Given the description of an element on the screen output the (x, y) to click on. 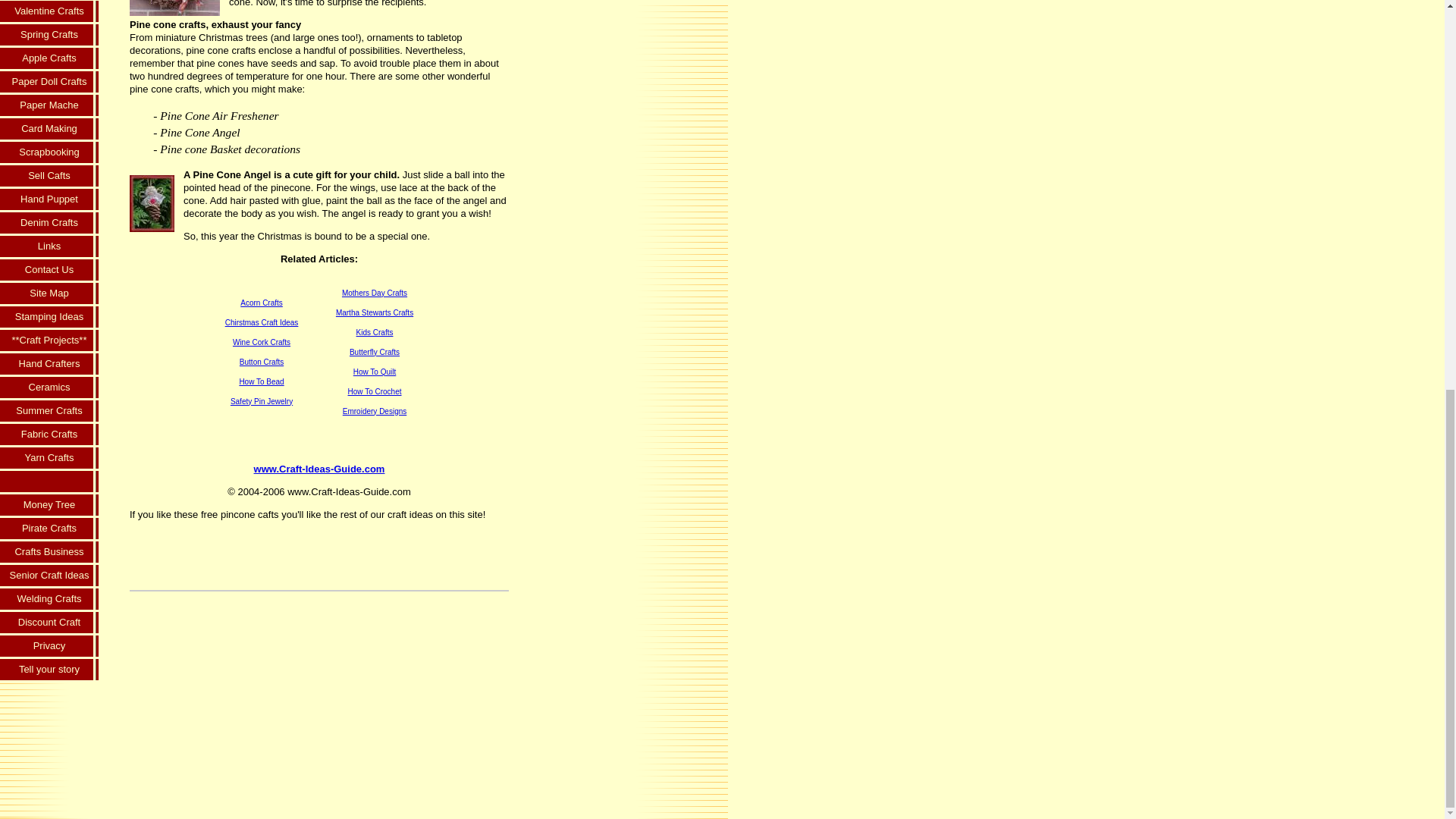
Paper Mache (49, 106)
Hand Puppet (49, 200)
Stamping Ideas (49, 318)
Sell Cafts (49, 177)
Denim Crafts (49, 223)
Card Making (49, 129)
Valentine Crafts (49, 12)
pinecone crafts (174, 7)
Spring Crafts (49, 35)
Apple Crafts (49, 59)
Scrapbooking (49, 153)
Paper Doll Crafts (49, 83)
Site Map (49, 294)
Links (49, 247)
